Given the description of an element on the screen output the (x, y) to click on. 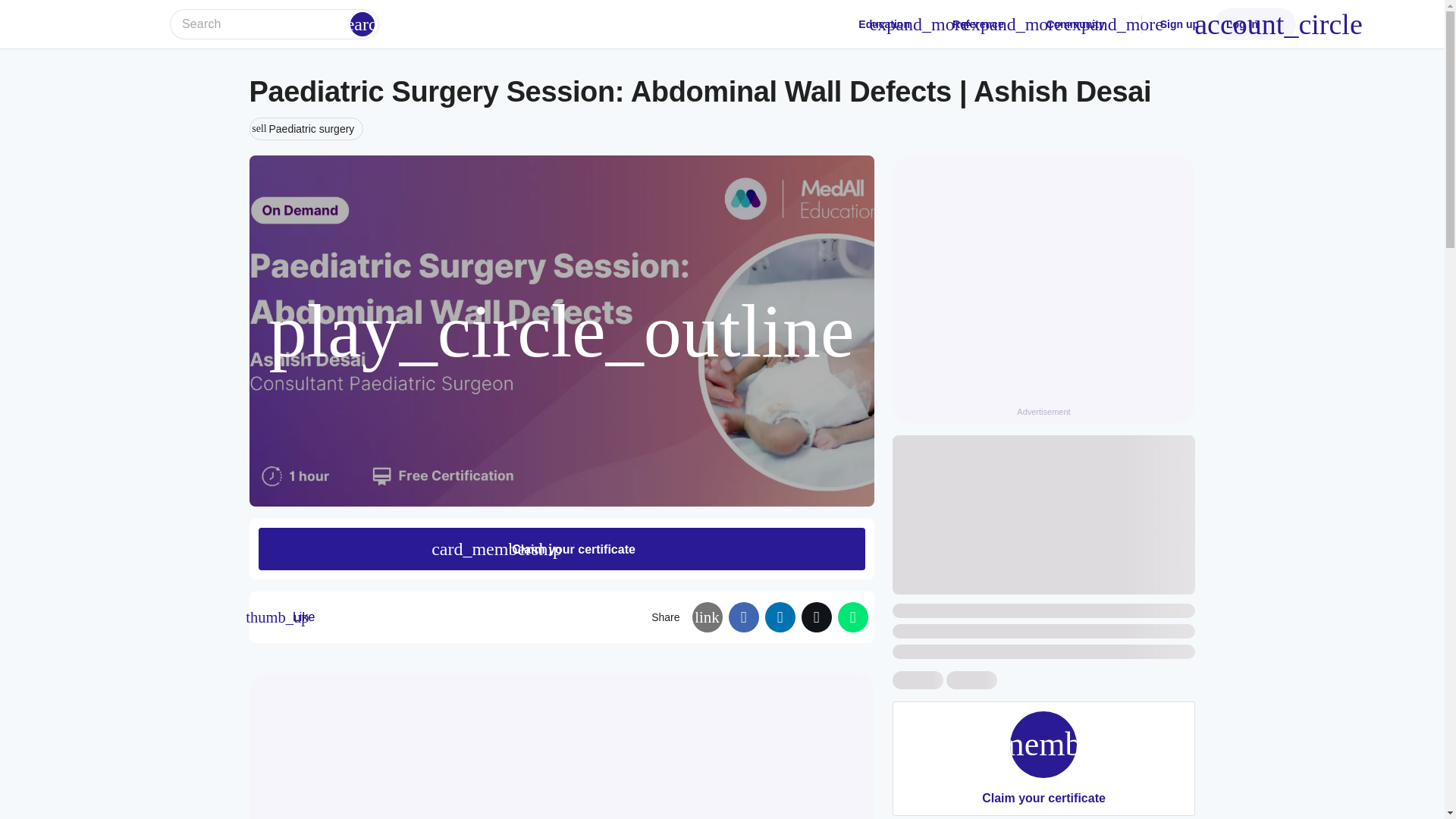
link (706, 616)
Sign up (1179, 24)
search (305, 128)
